Given the description of an element on the screen output the (x, y) to click on. 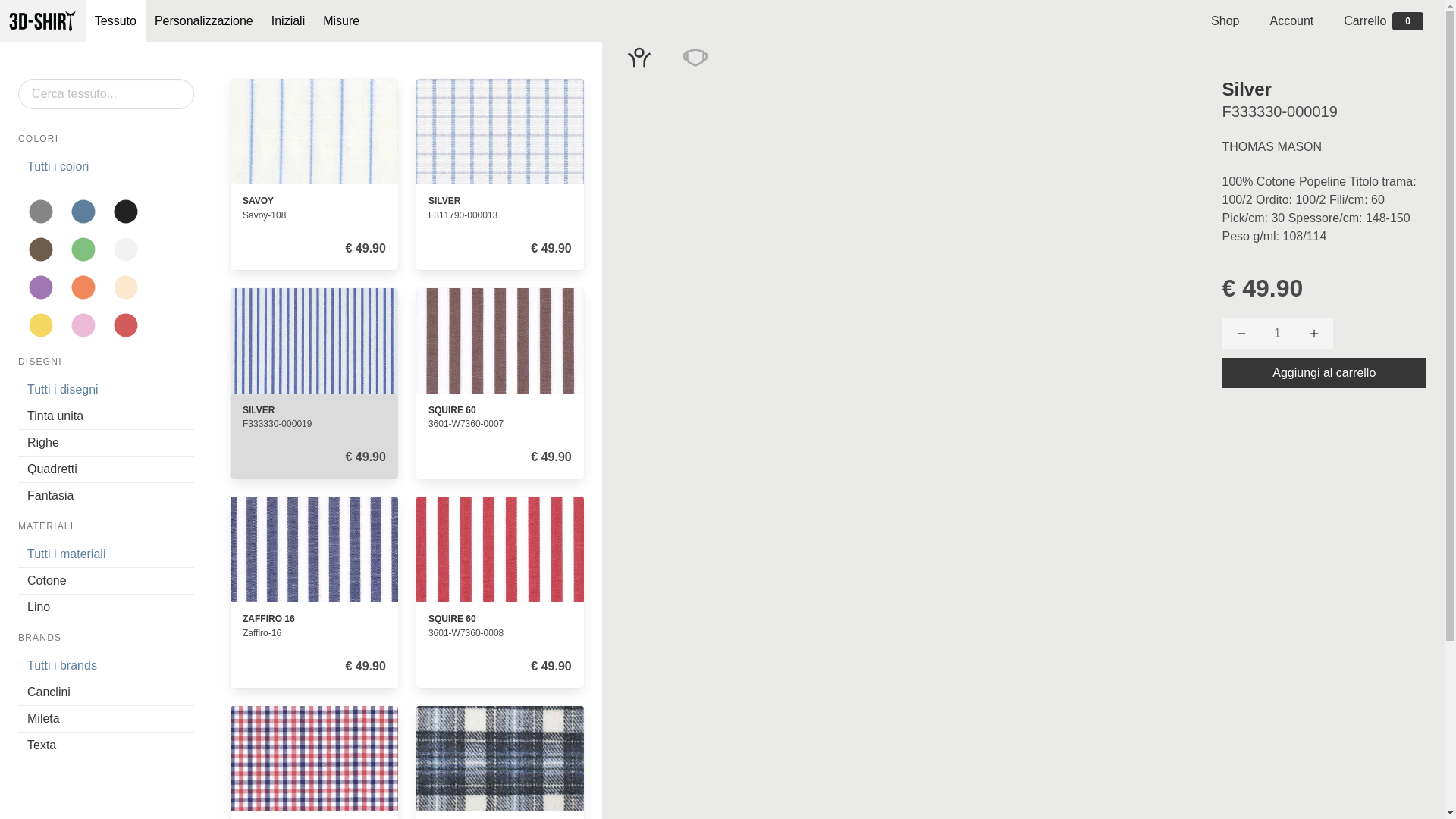
Mileta Element type: text (106, 719)
Lino Element type: text (106, 607)
Cotone Element type: text (106, 580)
Tutti i disegni Element type: text (106, 389)
Aggiungi al carrello Element type: text (1324, 372)
Account Element type: text (1291, 21)
Misure Element type: text (340, 21)
Texta Element type: text (106, 745)
Tinta unita Element type: text (106, 416)
Righe Element type: text (106, 442)
Fantasia Element type: text (106, 495)
Tutti i brands Element type: text (106, 665)
Tutti i materiali Element type: text (106, 554)
Iniziali Element type: text (287, 21)
Tessuto Element type: text (115, 21)
Shop Element type: text (1224, 21)
Quadretti Element type: text (106, 469)
Tutti i colori Element type: text (106, 166)
Canclini Element type: text (106, 692)
Personalizzazione Element type: text (203, 21)
Carrello
0 Element type: text (1383, 21)
